Given the description of an element on the screen output the (x, y) to click on. 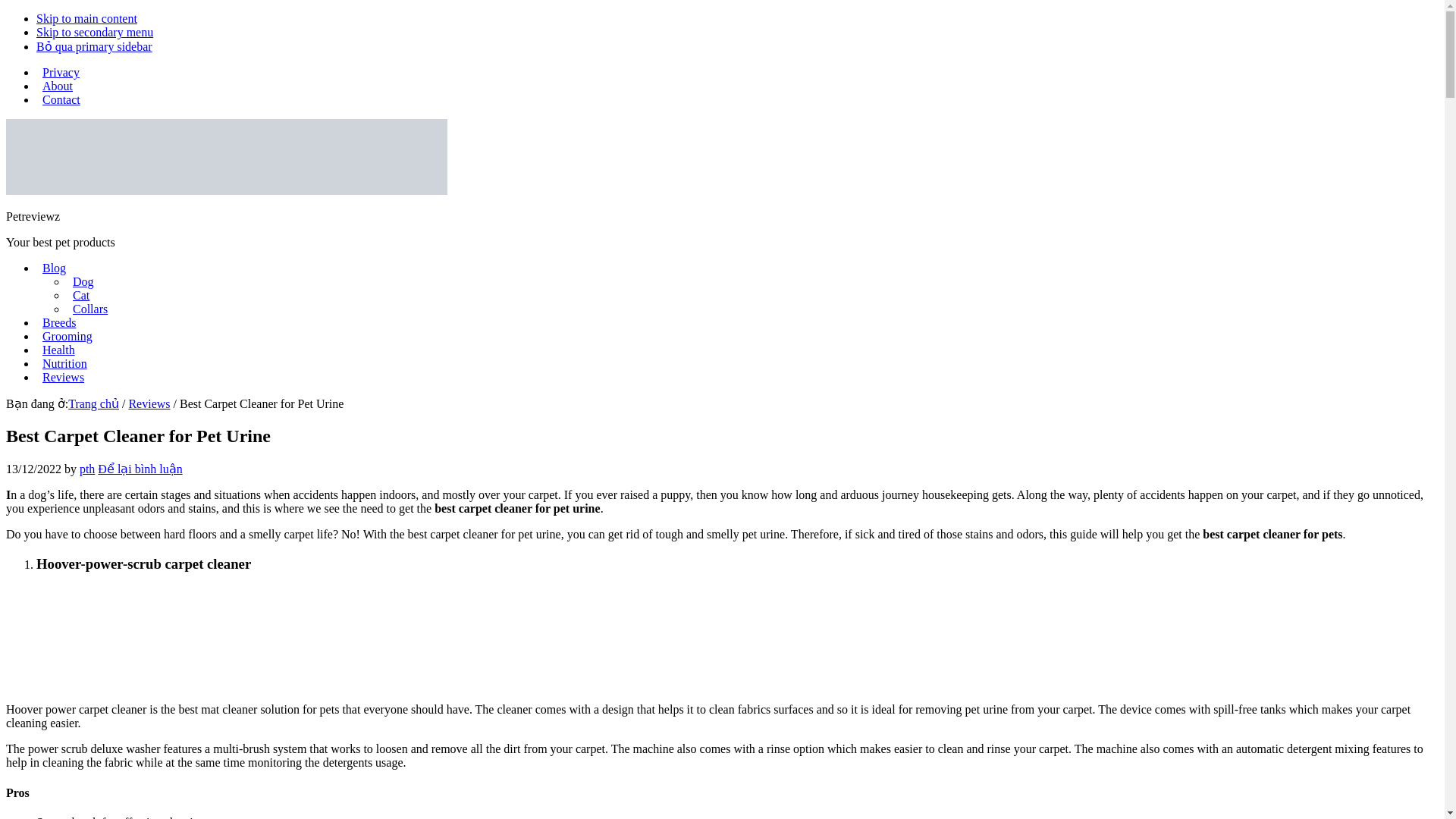
Best Carpet Cleaner for Pet Urine 1 (118, 643)
Collars (89, 308)
Skip to main content (86, 18)
Breeds (58, 322)
Reviews (63, 377)
Grooming (67, 336)
Privacy (60, 72)
Health (58, 349)
Blog (53, 267)
Skip to secondary menu (94, 31)
Nutrition (64, 363)
Reviews (149, 403)
Contact (60, 99)
About (57, 85)
